Given the description of an element on the screen output the (x, y) to click on. 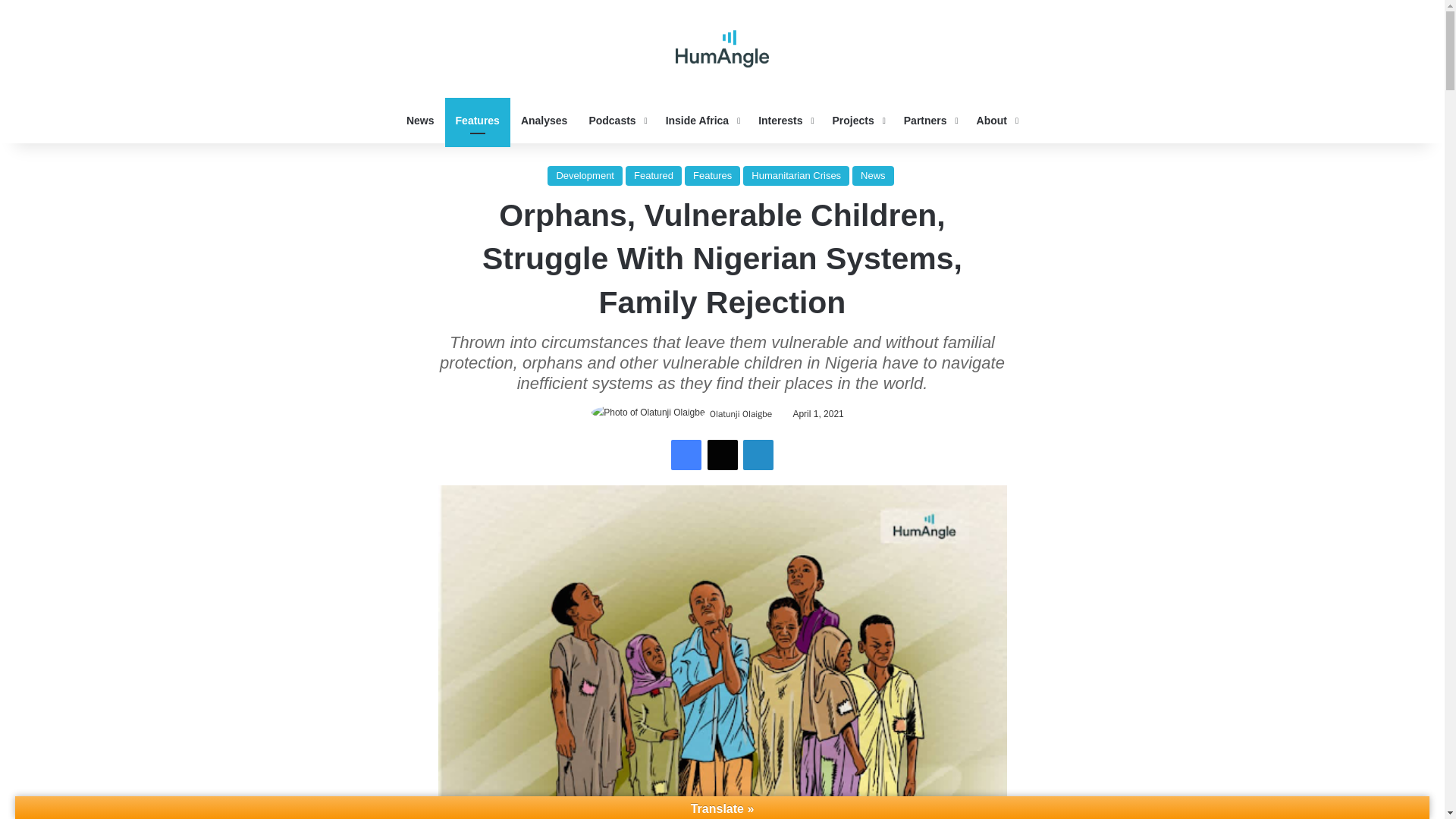
Facebook (686, 454)
X (721, 454)
LinkedIn (757, 454)
Features (478, 120)
Interests (784, 120)
Analyses (544, 120)
Inside Africa (701, 120)
Podcasts (615, 120)
News (420, 120)
HumAngle (721, 48)
